Given the description of an element on the screen output the (x, y) to click on. 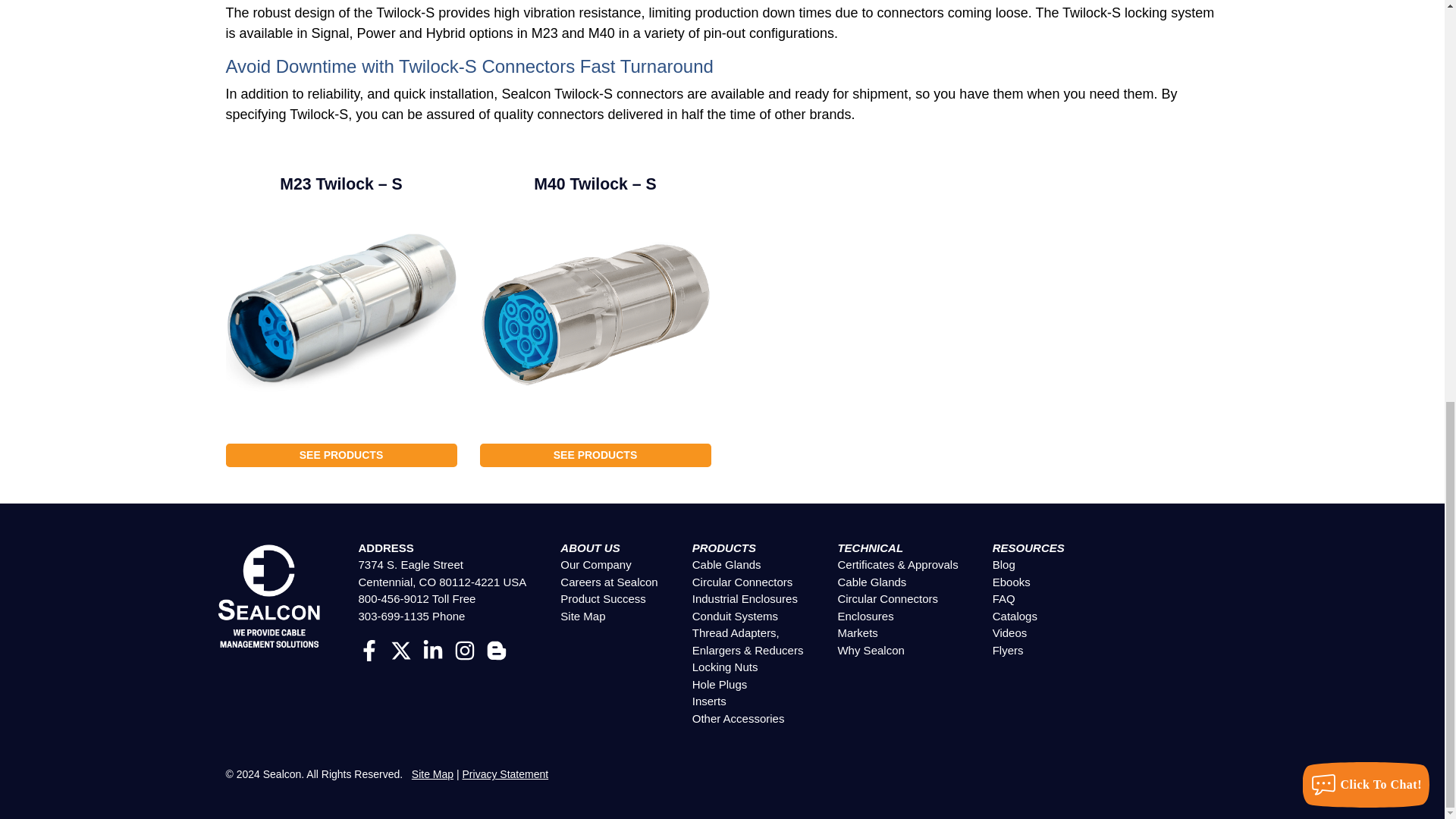
Facebook (368, 649)
LinkedIn (433, 649)
instagram (465, 649)
X (401, 649)
blog (496, 649)
